Given the description of an element on the screen output the (x, y) to click on. 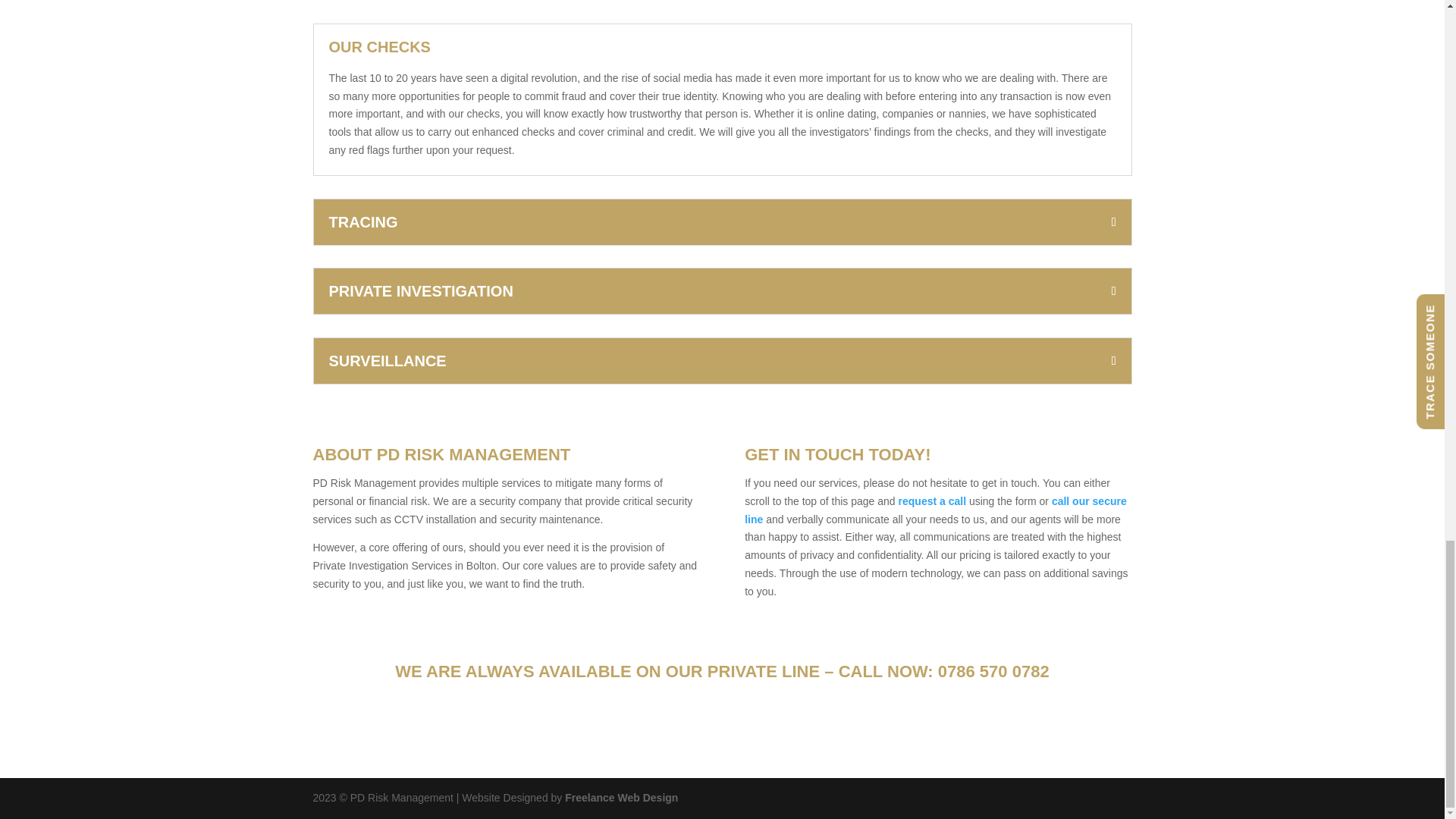
call our secure line (935, 510)
0786 570 0782 (993, 670)
Freelance Web Design (621, 797)
request a call (932, 500)
